Given the description of an element on the screen output the (x, y) to click on. 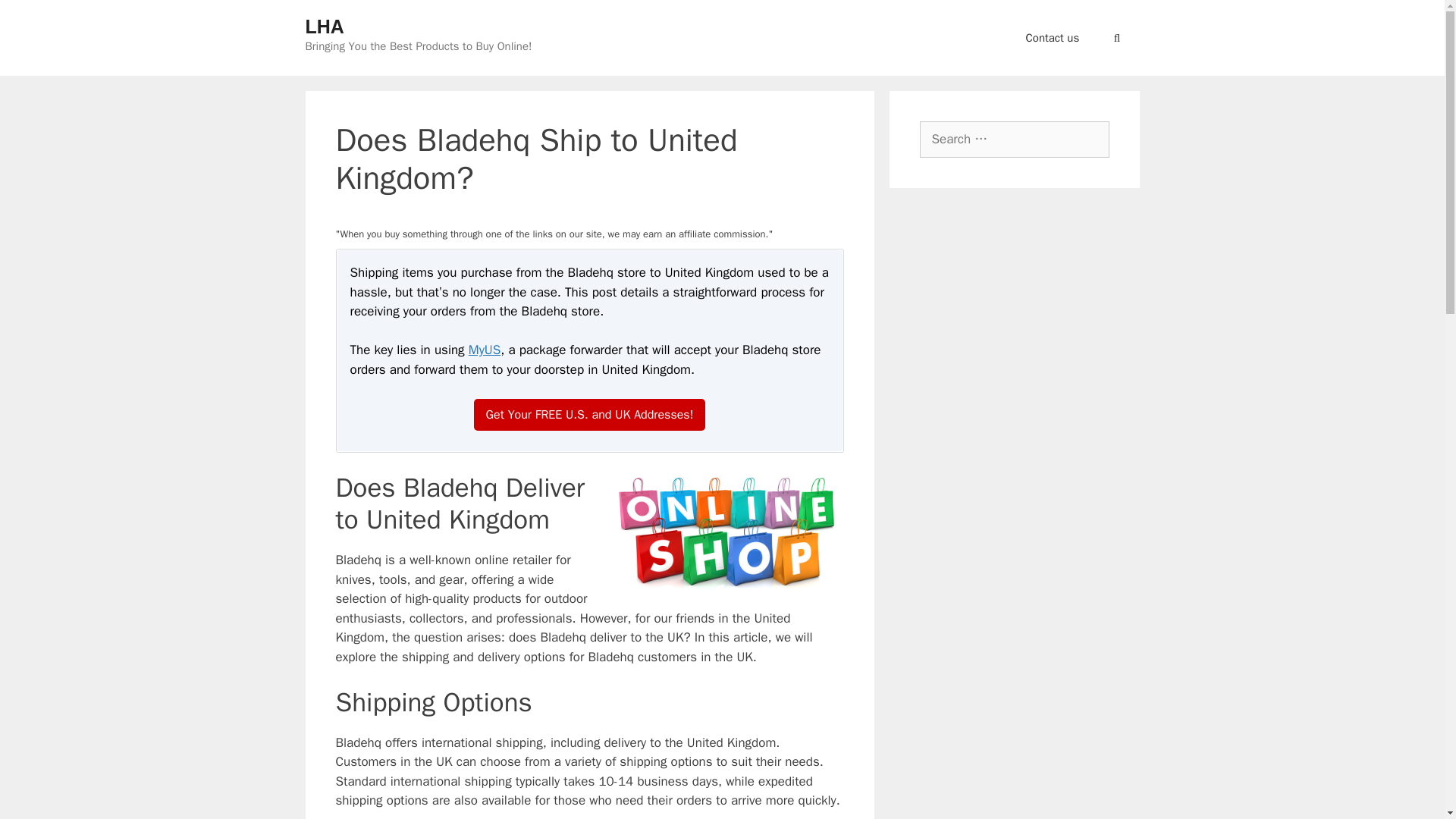
Contact us (1052, 37)
Get Your FREE U.S. and UK Addresses! (590, 414)
Search (33, 15)
LHA (323, 25)
Search for: (1013, 139)
MyUS (484, 349)
